Given the description of an element on the screen output the (x, y) to click on. 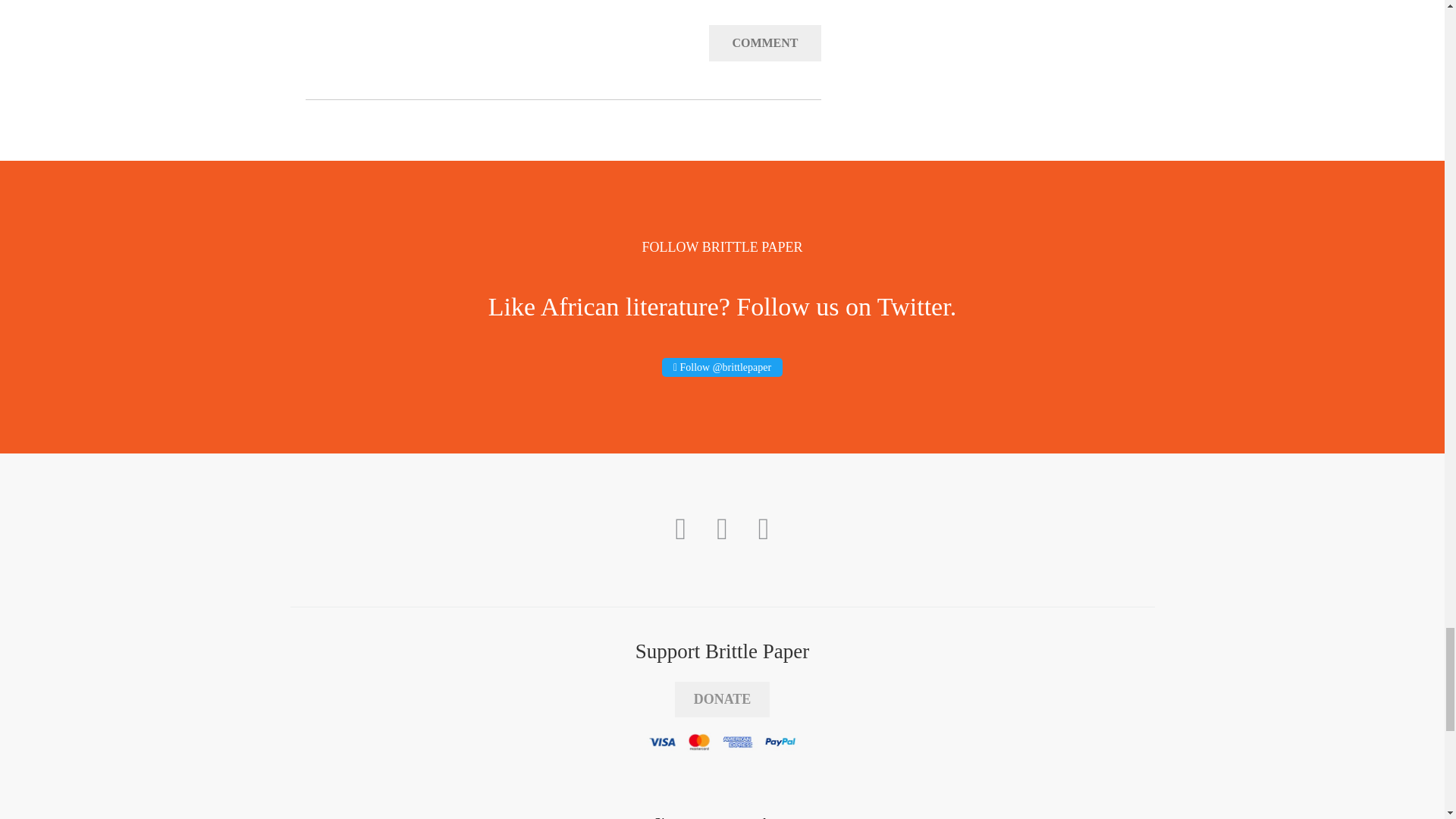
comment (765, 43)
